Given the description of an element on the screen output the (x, y) to click on. 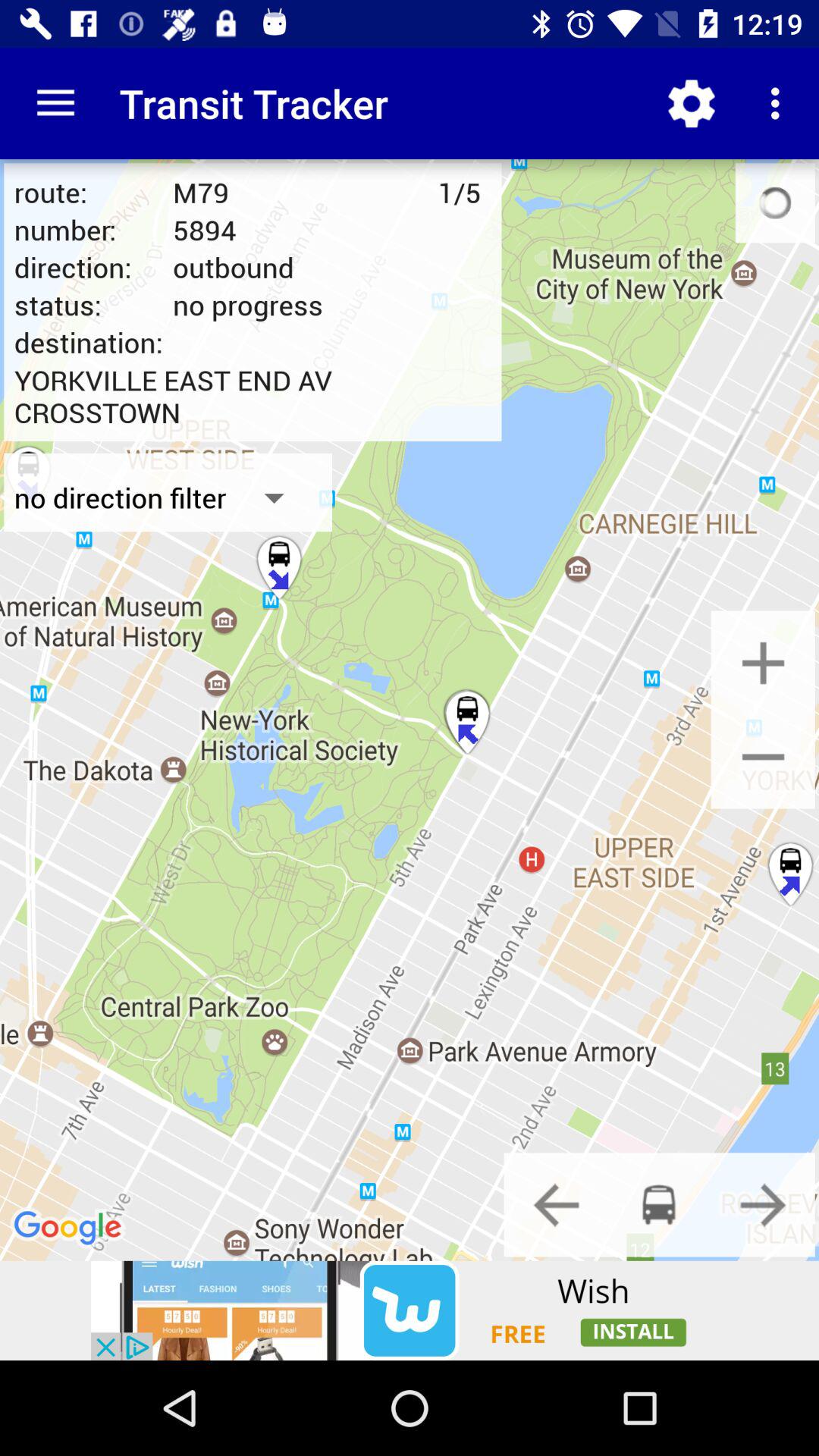
go to backward (555, 1204)
